Given the description of an element on the screen output the (x, y) to click on. 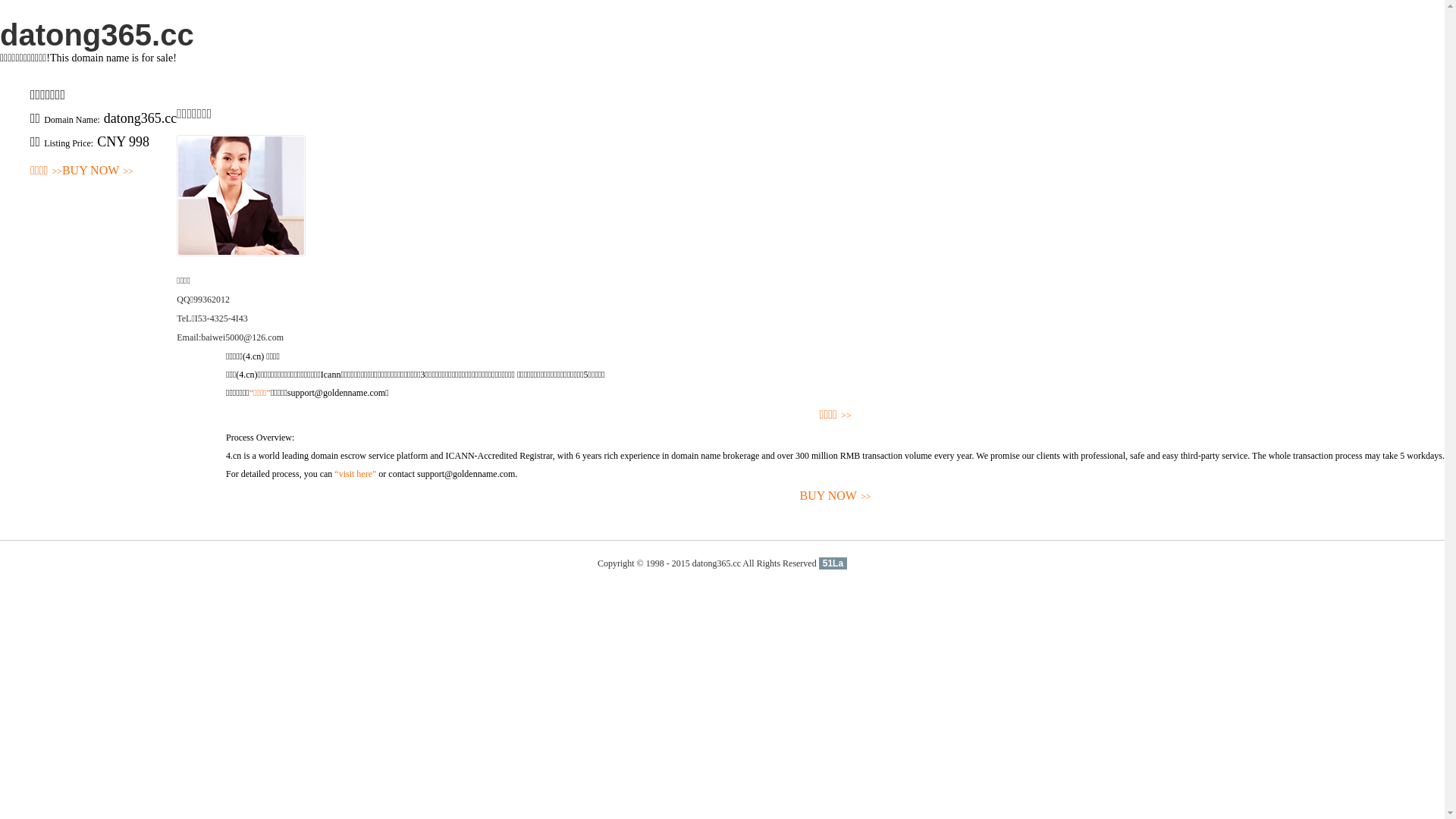
51La Element type: text (833, 563)
BUY NOW>> Element type: text (97, 170)
BUY NOW>> Element type: text (834, 496)
